Given the description of an element on the screen output the (x, y) to click on. 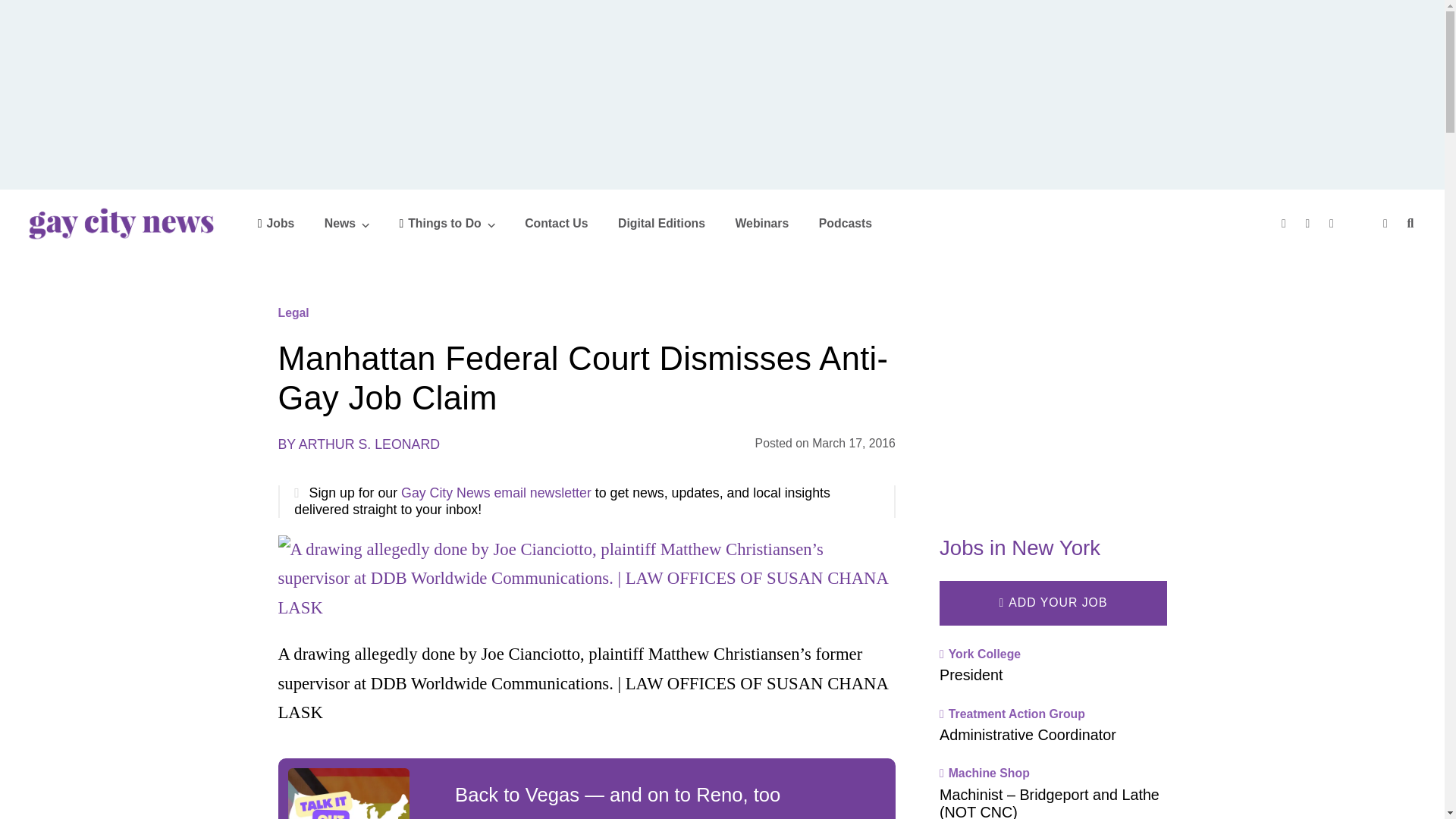
Webinars (762, 223)
News (346, 223)
Jobs (276, 223)
Digital Editions (660, 223)
Contact Us (556, 223)
Things to Do (446, 223)
Podcasts (845, 223)
